Given the description of an element on the screen output the (x, y) to click on. 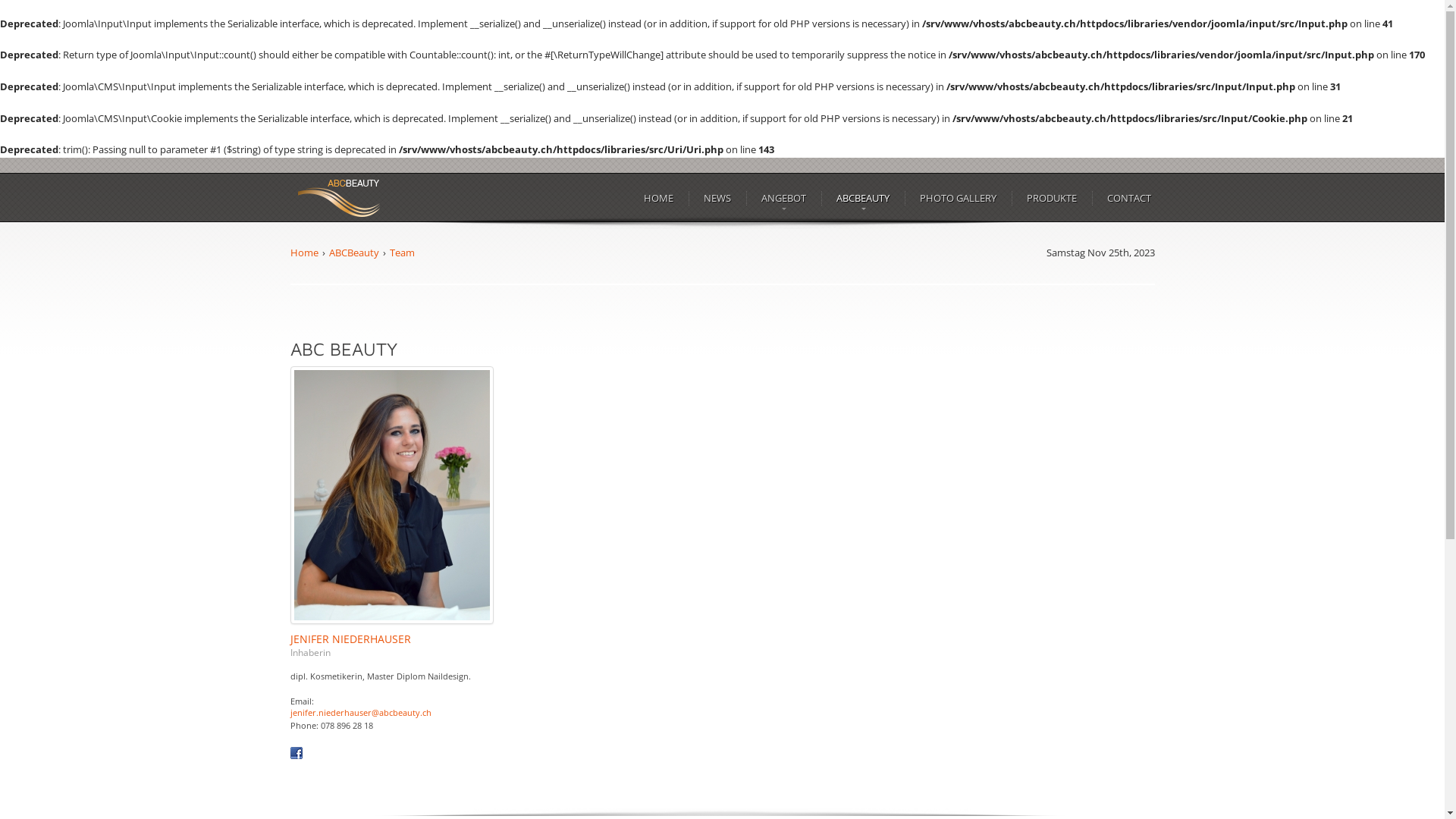
ABCBeauty Element type: text (354, 252)
Team Element type: text (401, 252)
PRODUKTE Element type: text (1050, 197)
NEWS Element type: text (716, 197)
jenifer.niederhauser@abcbeauty.ch Element type: text (359, 712)
Click to return to Homepage of Your Website Element type: hover (338, 197)
PHOTO GALLERY Element type: text (958, 197)
HOME Element type: text (658, 197)
ABCBEAUTY Element type: text (862, 197)
ANGEBOT Element type: text (782, 197)
CONTACT Element type: text (1128, 197)
Home Element type: text (303, 252)
